Given the description of an element on the screen output the (x, y) to click on. 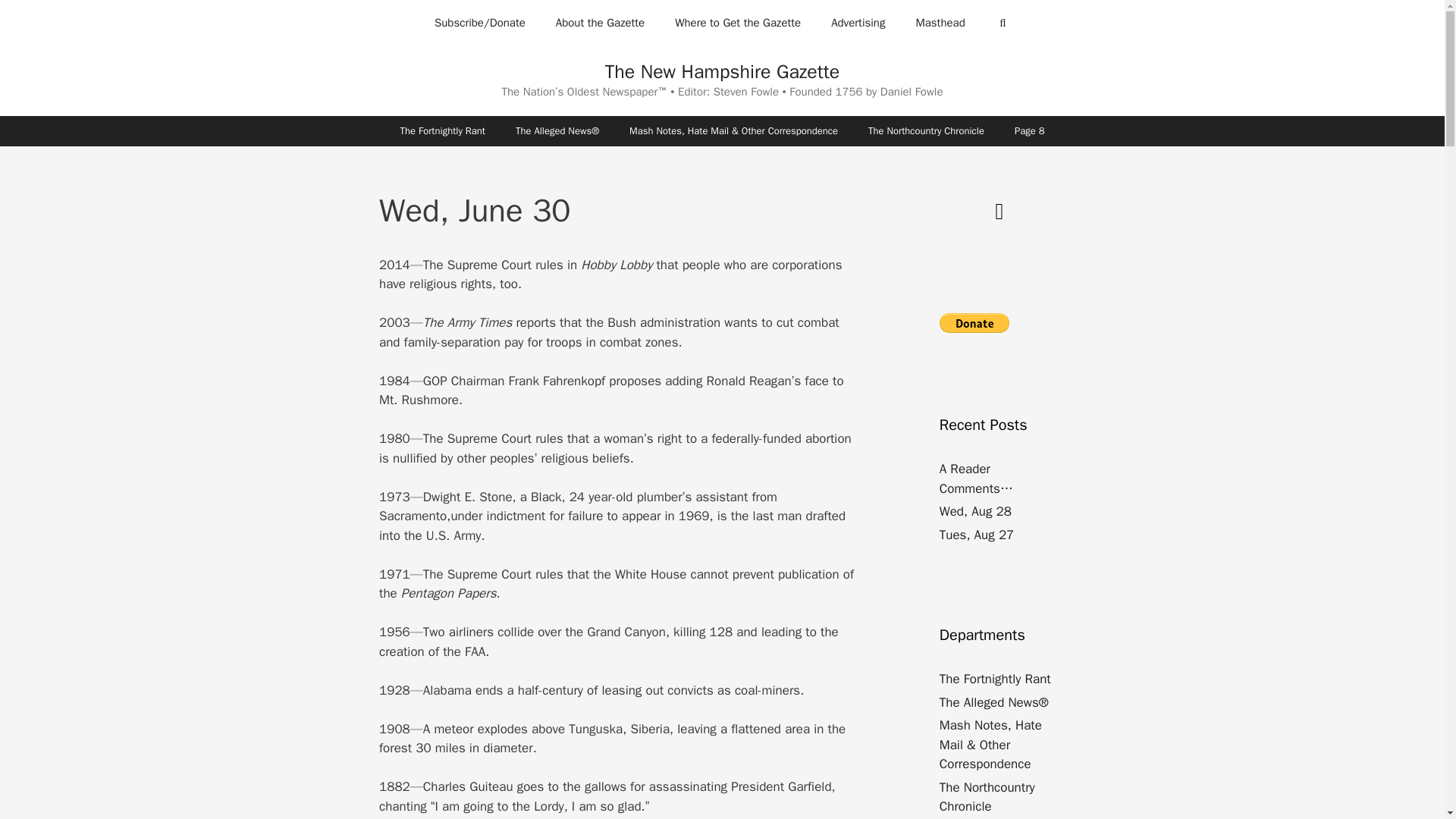
The Fortnightly Rant (442, 130)
Tues, Aug 27 (976, 534)
The Northcountry Chronicle (987, 796)
Advertising (857, 22)
Masthead (939, 22)
The Northcountry Chronicle (925, 130)
Where to Get the Gazette (737, 22)
The New Hampshire Gazette (722, 71)
Page 8 (1028, 130)
About the Gazette (599, 22)
